Given the description of an element on the screen output the (x, y) to click on. 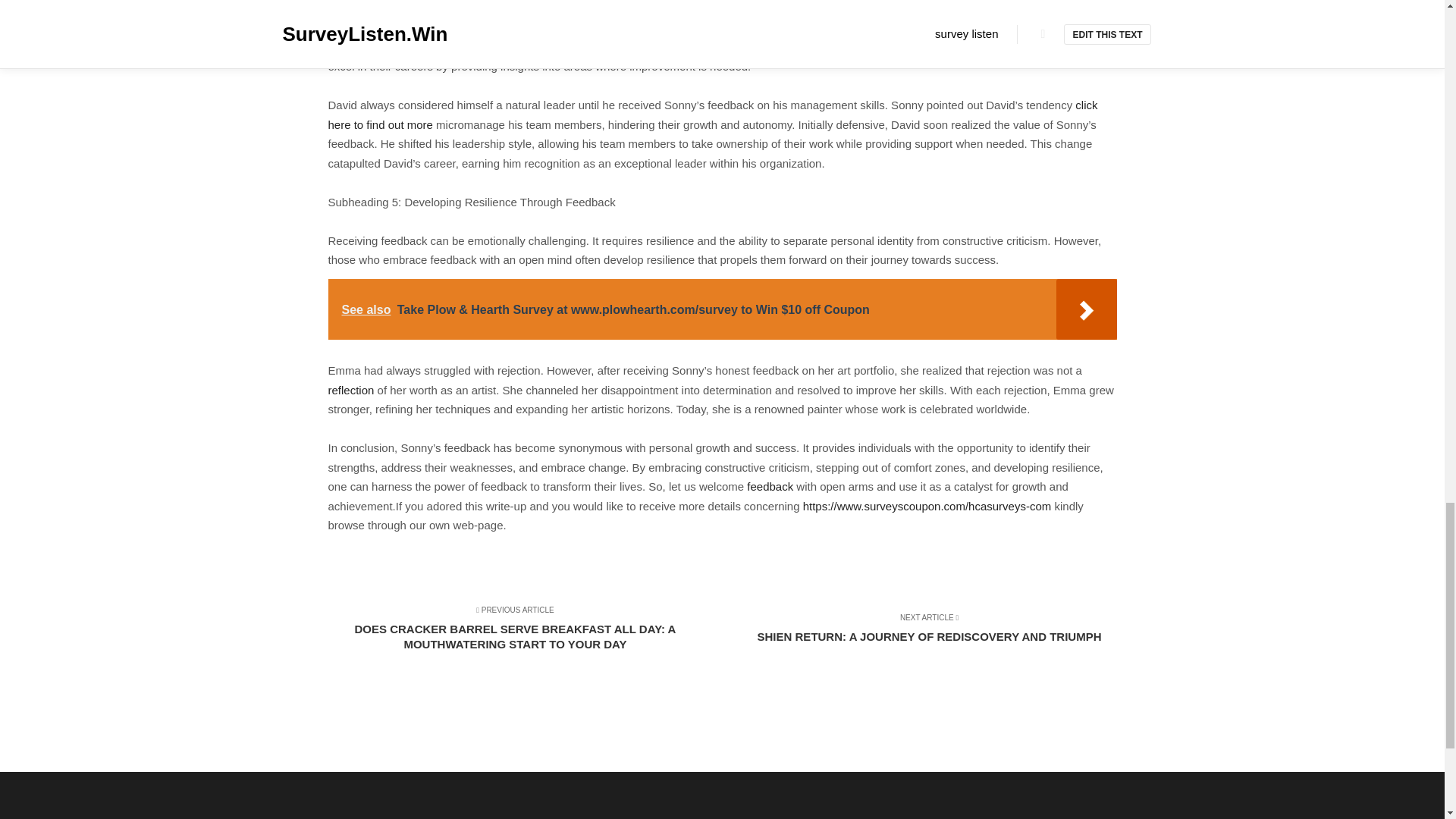
feedback (769, 486)
reflection (350, 390)
click here to find out more (712, 114)
